Given the description of an element on the screen output the (x, y) to click on. 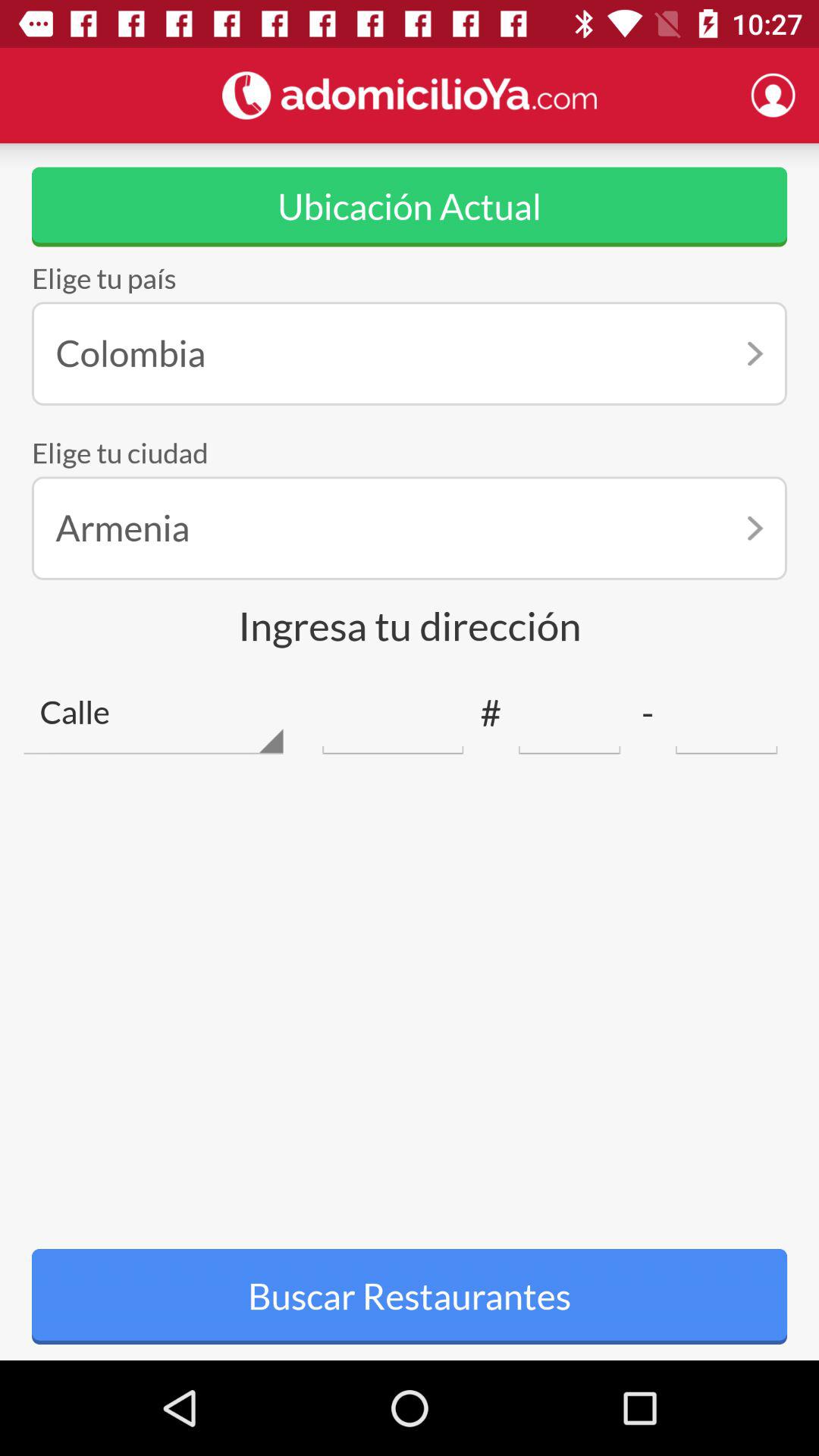
get your account information (773, 95)
